Given the description of an element on the screen output the (x, y) to click on. 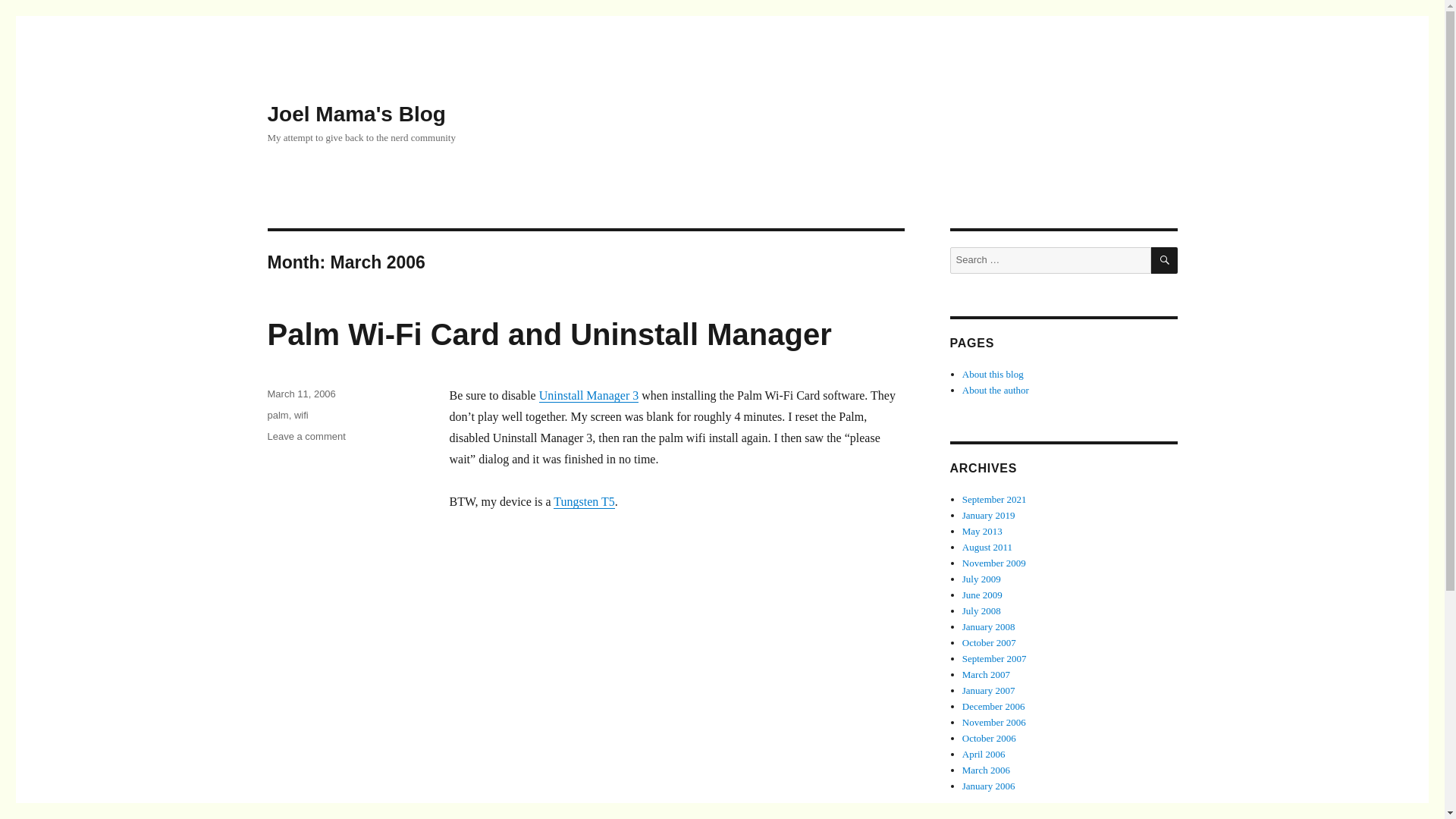
About the author (995, 389)
About this blog (992, 374)
Palm Wi-Fi Card and Uninstall Manager (548, 334)
November 2006 (994, 722)
wifi (301, 414)
palm (277, 414)
May 2013 (982, 531)
September 2007 (994, 658)
January 2007 (988, 690)
Uninstall Manager 3 (588, 395)
January 2008 (988, 626)
November 2009 (305, 436)
July 2009 (994, 562)
June 2009 (981, 578)
